Given the description of an element on the screen output the (x, y) to click on. 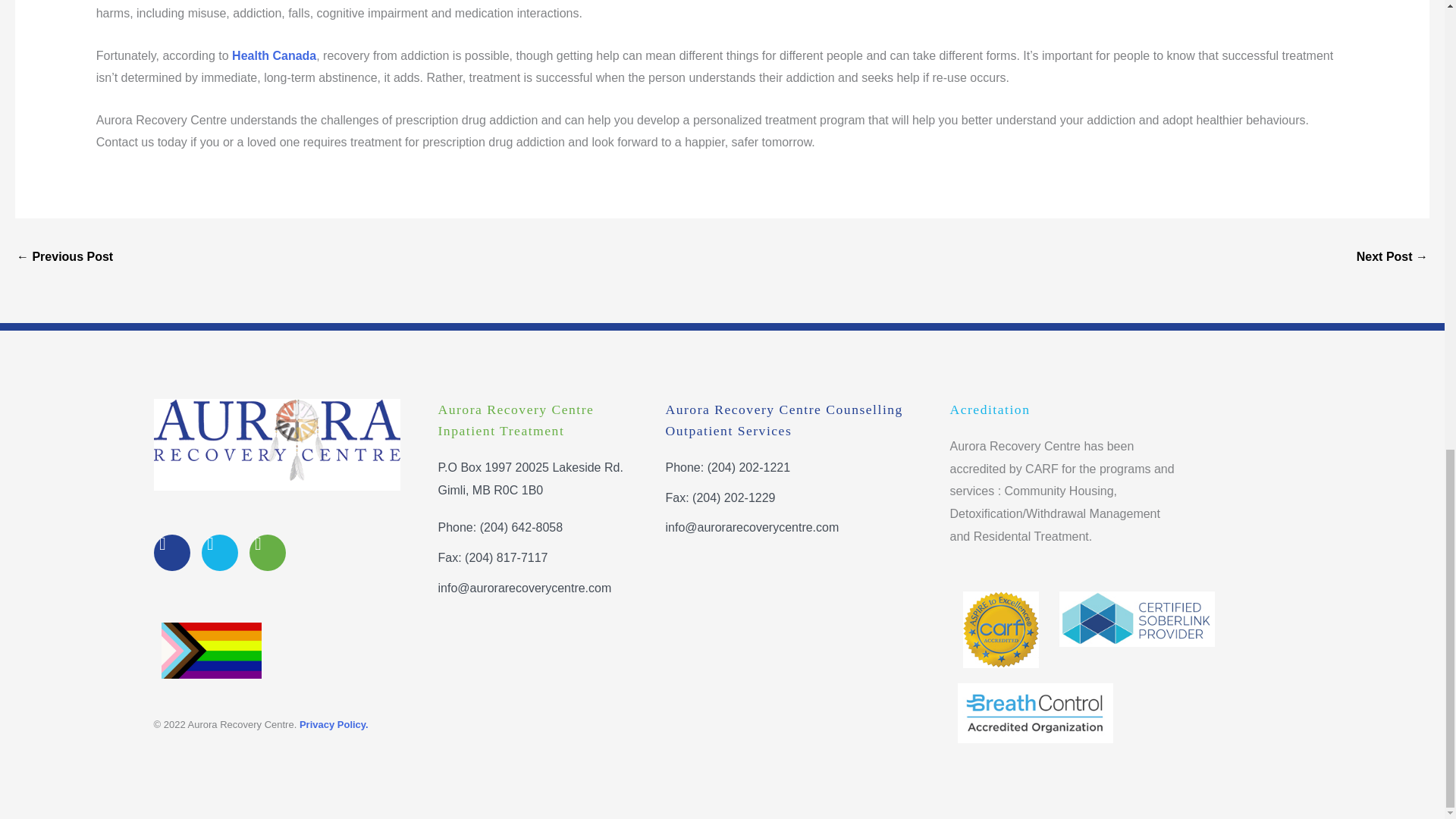
Recovery and getting in touch with nature (64, 257)
lgbt-pride-flag-redesign-hero (210, 650)
